Given the description of an element on the screen output the (x, y) to click on. 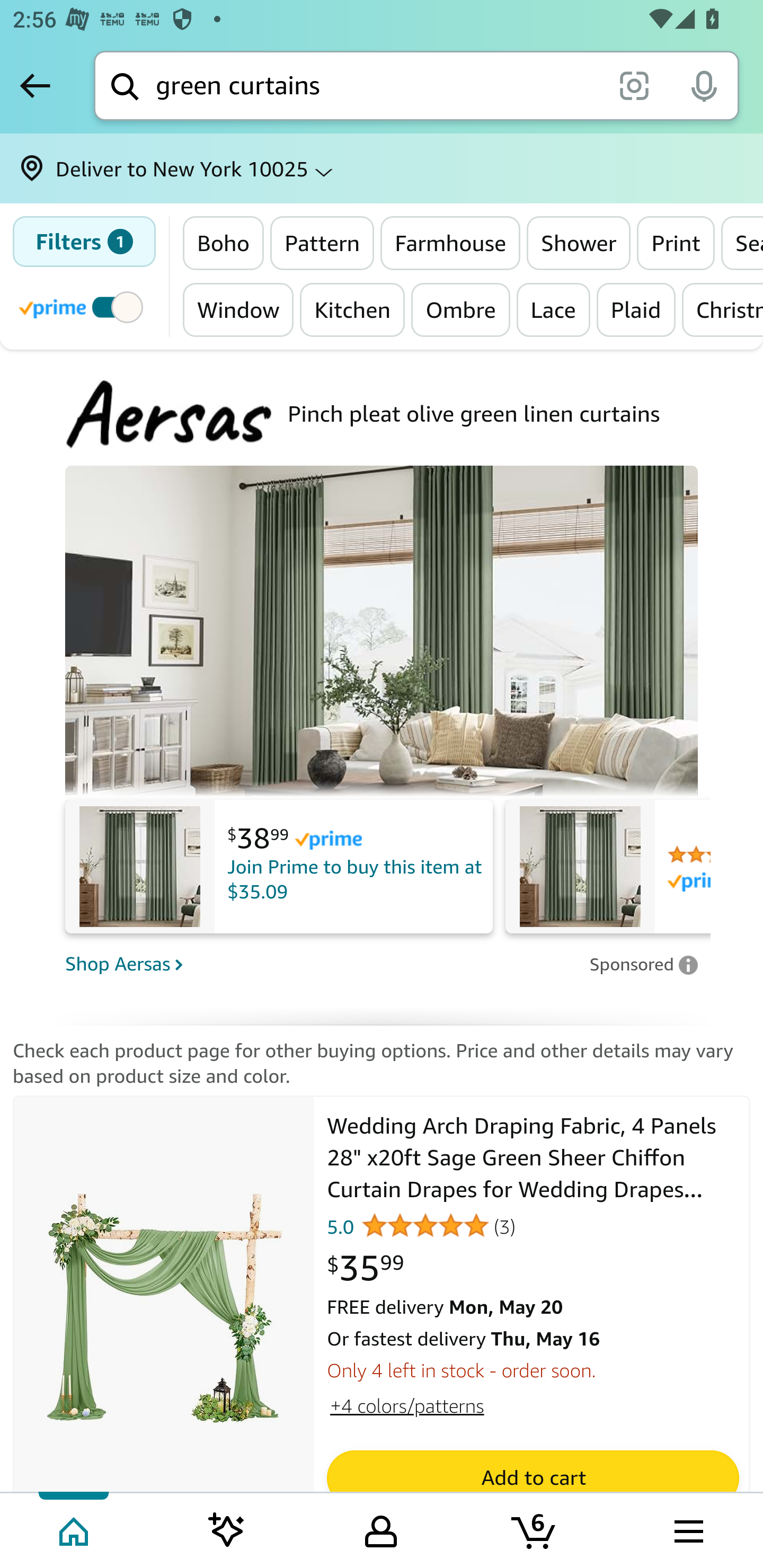
Back (35, 85)
scan it (633, 85)
Deliver to New York 10025 ⌵ (381, 168)
Filters 1 (83, 241)
Boho (224, 242)
Pattern (322, 242)
Farmhouse (450, 242)
Shower (578, 242)
Print (675, 242)
Toggle to filter by Prime products Prime Eligible (83, 306)
Window (238, 309)
Kitchen (352, 309)
Ombre (460, 309)
Lace (553, 309)
Plaid (635, 309)
Christmas (721, 309)
Shop Aersas Shop  Aersas  (321, 963)
Leave feedback on Sponsored ad (643, 964)
+4 colors/patterns (406, 1405)
Add to cart (532, 1477)
Home Tab 1 of 5 (75, 1529)
Inspire feed Tab 2 of 5 (227, 1529)
Your Amazon.com Tab 3 of 5 (380, 1529)
Cart 6 items Tab 4 of 5 6 (534, 1529)
Browse menu Tab 5 of 5 (687, 1529)
